Given the description of an element on the screen output the (x, y) to click on. 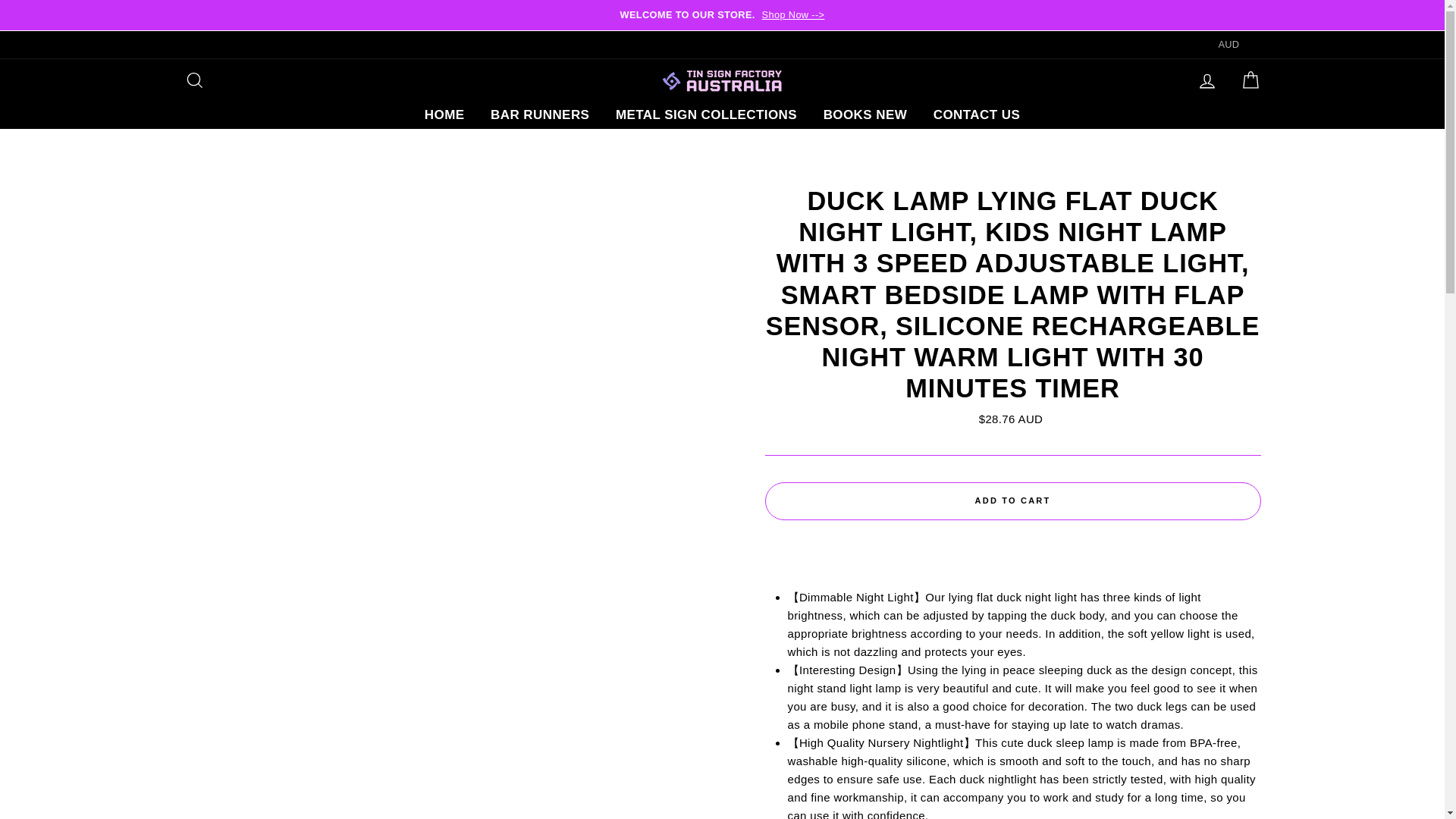
METAL SIGN COLLECTIONS (706, 114)
BAR RUNNERS (539, 114)
HOME (444, 114)
SEARCH (194, 80)
CART (1249, 80)
LOG IN (1207, 80)
